Given the description of an element on the screen output the (x, y) to click on. 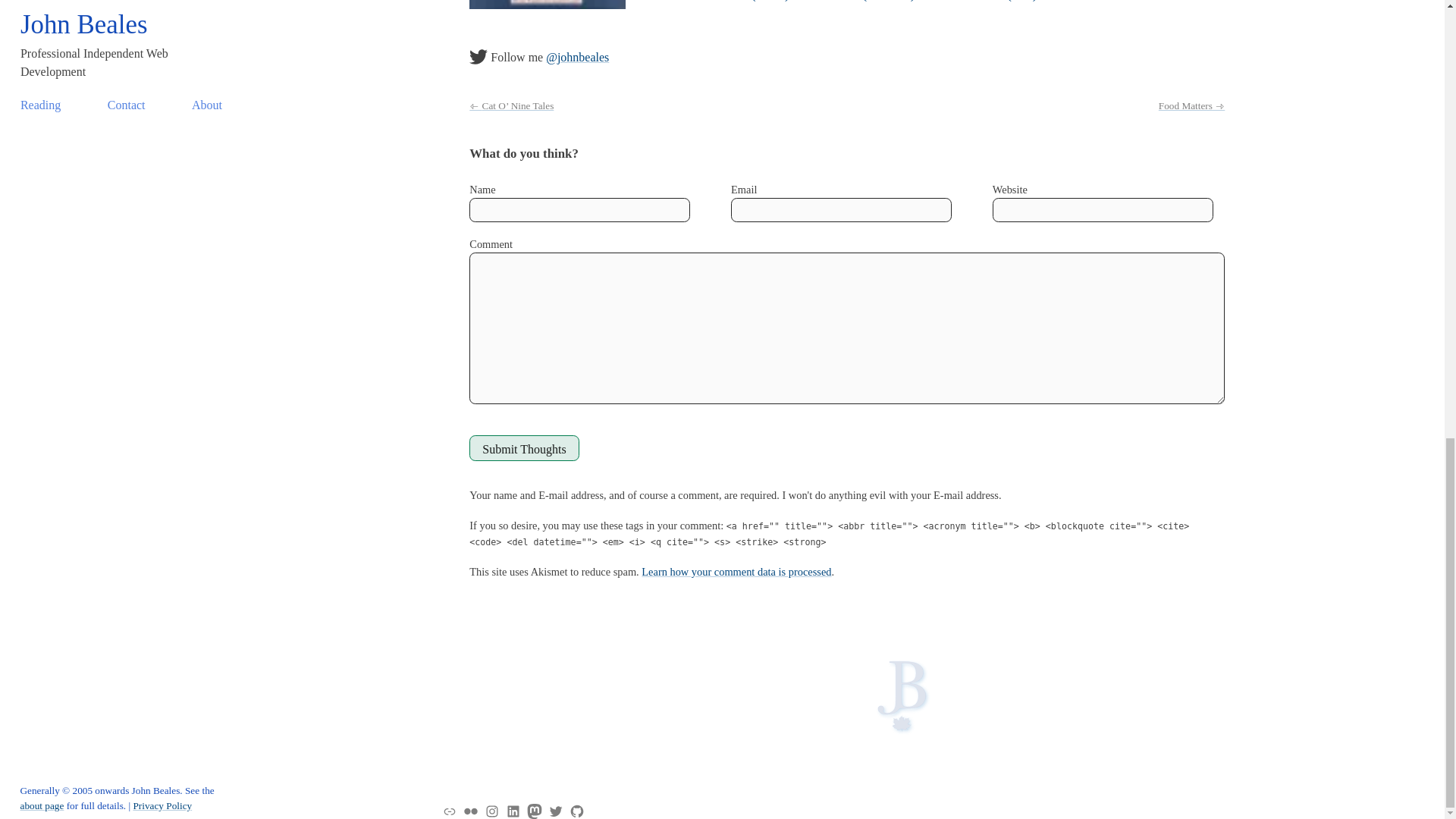
Learn how your comment data is processed (736, 571)
Food Matters (1191, 105)
about page (42, 805)
Submit Thoughts (523, 447)
Submit Thoughts (523, 447)
Privacy Policy (162, 805)
